Given the description of an element on the screen output the (x, y) to click on. 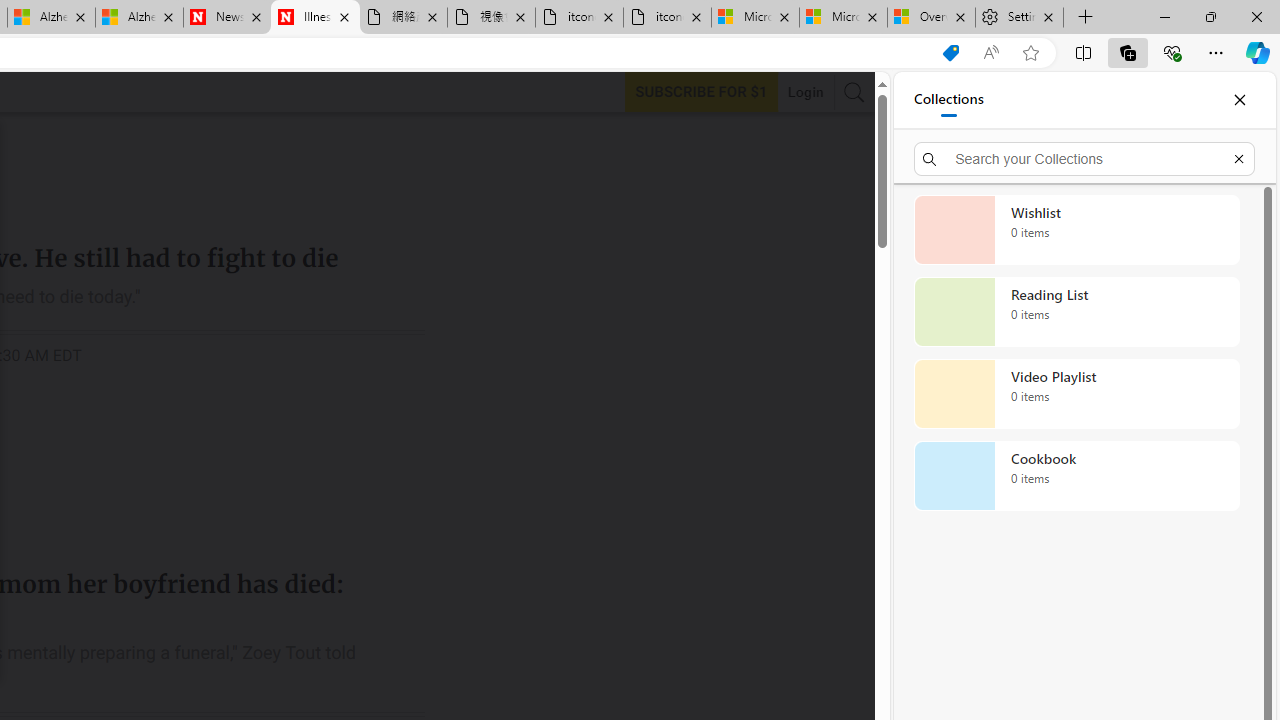
Copilot (Ctrl+Shift+.) (1258, 52)
